Given the description of an element on the screen output the (x, y) to click on. 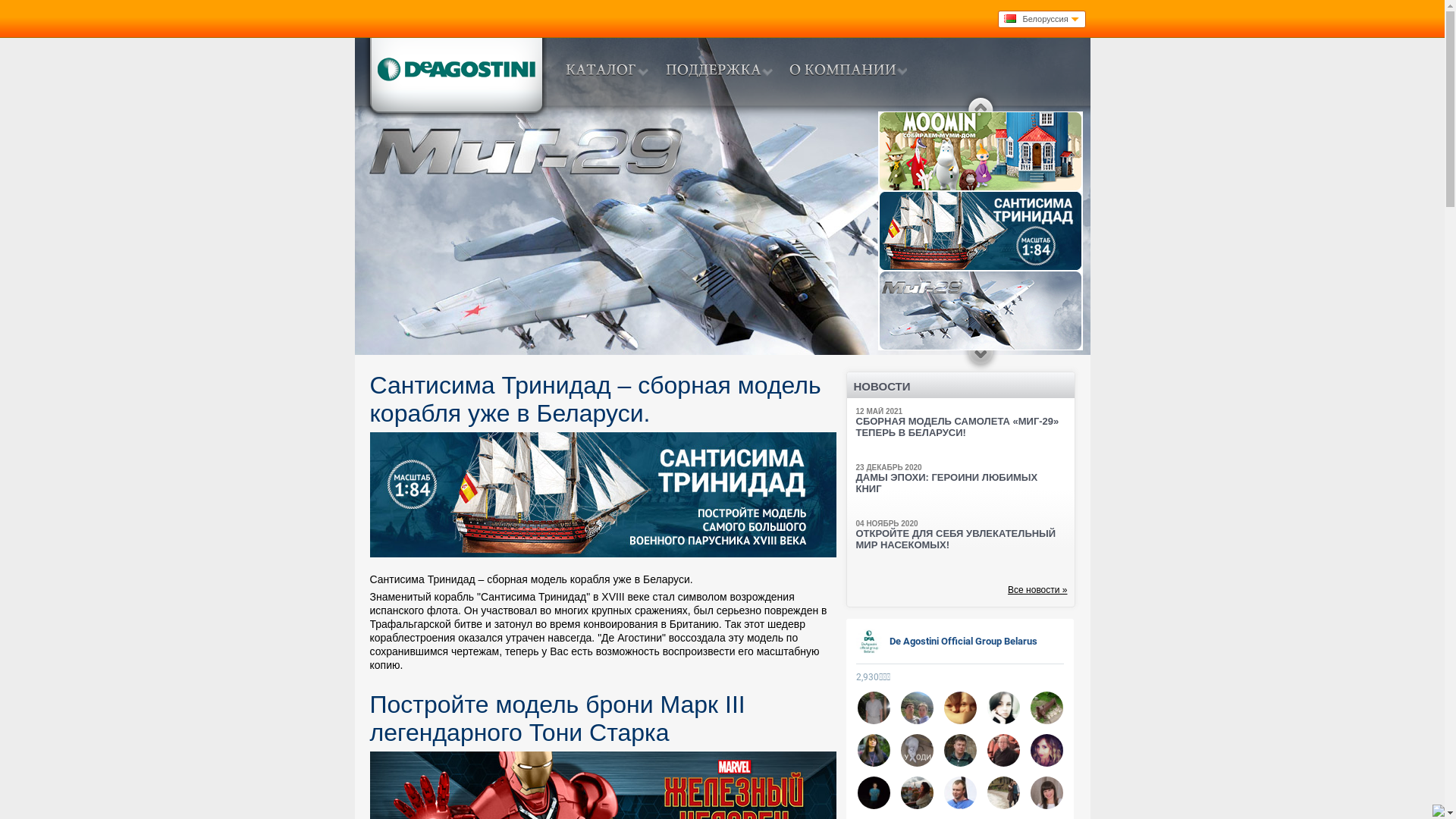
DeAgostini Element type: hover (454, 77)
Scroll top Element type: text (980, 102)
Scroll down Element type: text (980, 358)
